Given the description of an element on the screen output the (x, y) to click on. 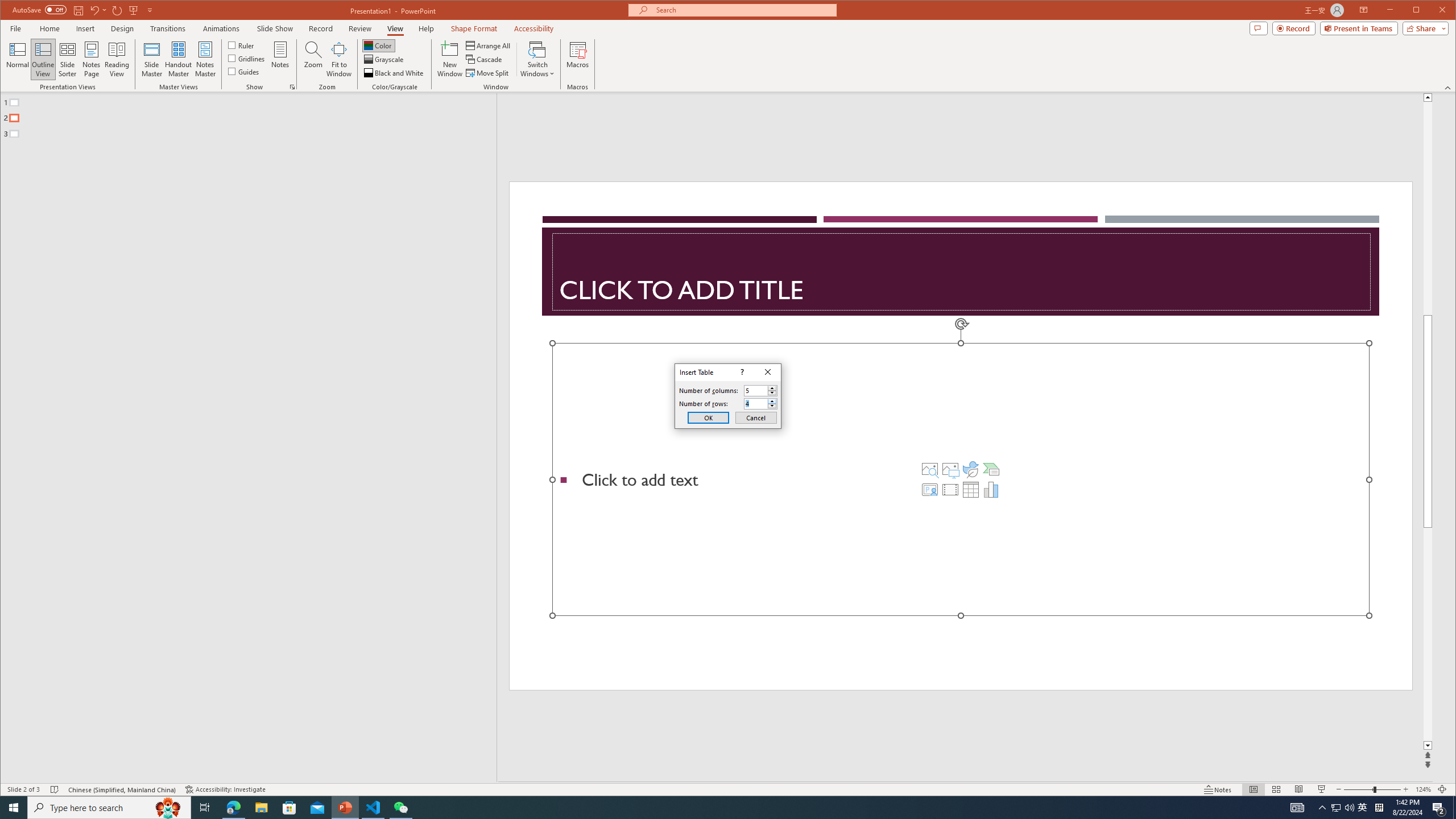
Outline View (42, 59)
Zoom 124% (1422, 789)
Pictures (949, 469)
New Window (450, 59)
Black and White (394, 72)
Cascade (484, 59)
